Given the description of an element on the screen output the (x, y) to click on. 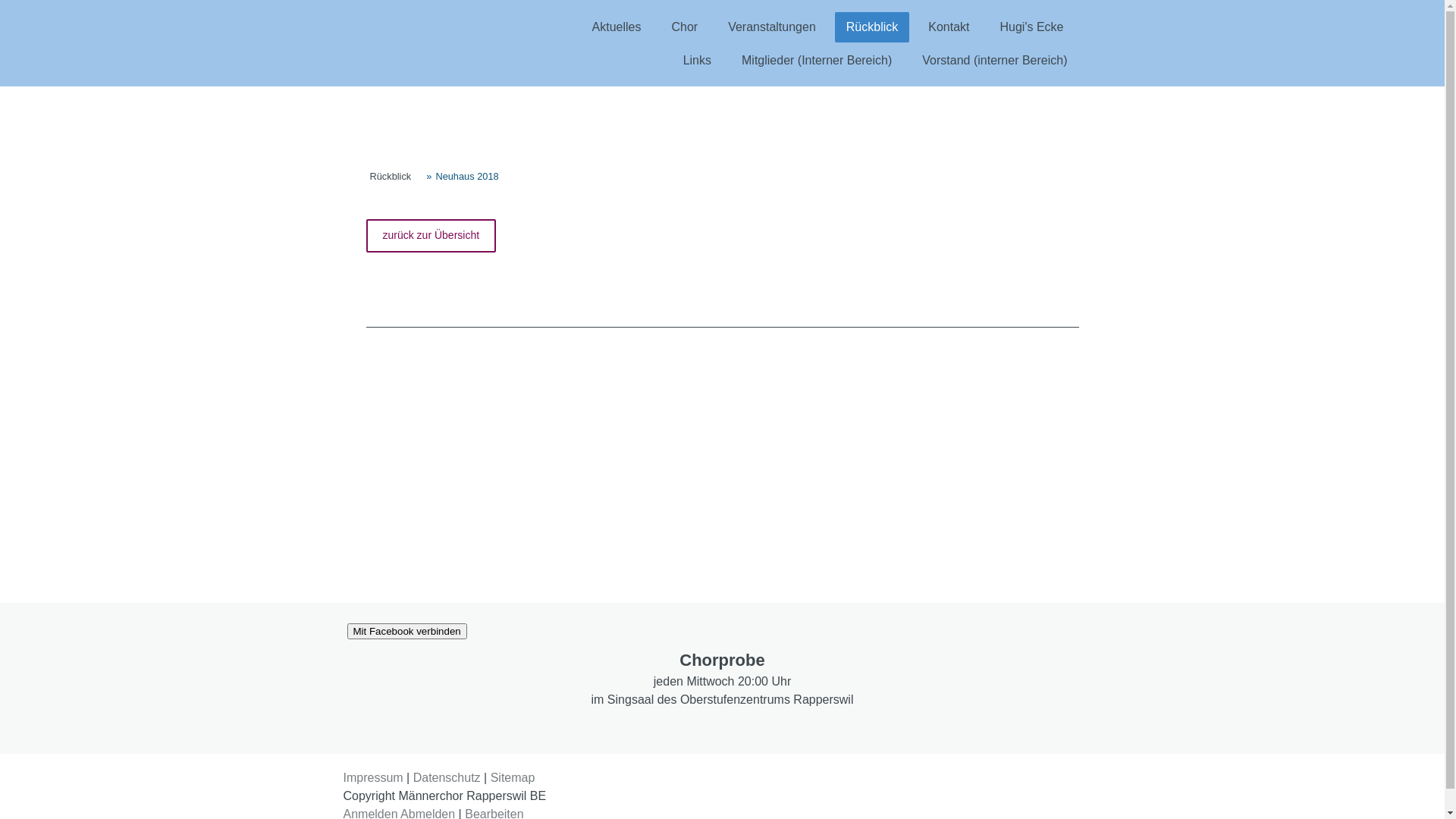
Datenschutz Element type: text (446, 777)
Chor Element type: text (684, 27)
Impressum Element type: text (372, 777)
Veranstaltungen Element type: text (771, 27)
Vorstand (interner Bereich) Element type: text (994, 60)
Links Element type: text (696, 60)
Mit Facebook verbinden Element type: text (407, 631)
Mitglieder (Interner Bereich) Element type: text (816, 60)
Aktuelles Element type: text (616, 27)
Neuhaus 2018 Element type: text (462, 176)
Sitemap Element type: text (512, 777)
Kontakt Element type: text (948, 27)
Hugi's Ecke Element type: text (1031, 27)
